Given the description of an element on the screen output the (x, y) to click on. 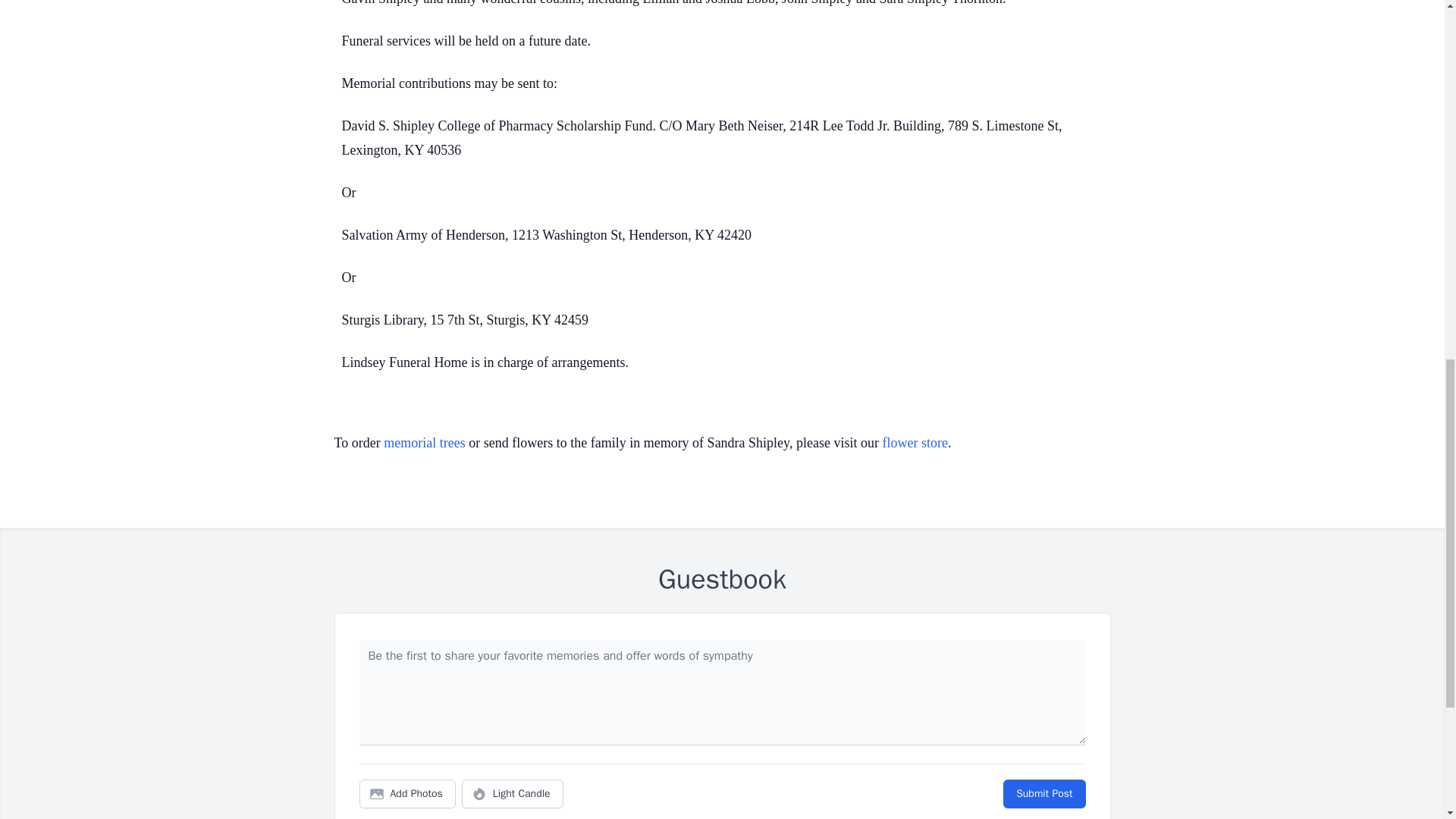
Light Candle (512, 793)
Add Photos (407, 793)
flower store (914, 442)
memorial trees (424, 442)
Submit Post (1043, 793)
